Given the description of an element on the screen output the (x, y) to click on. 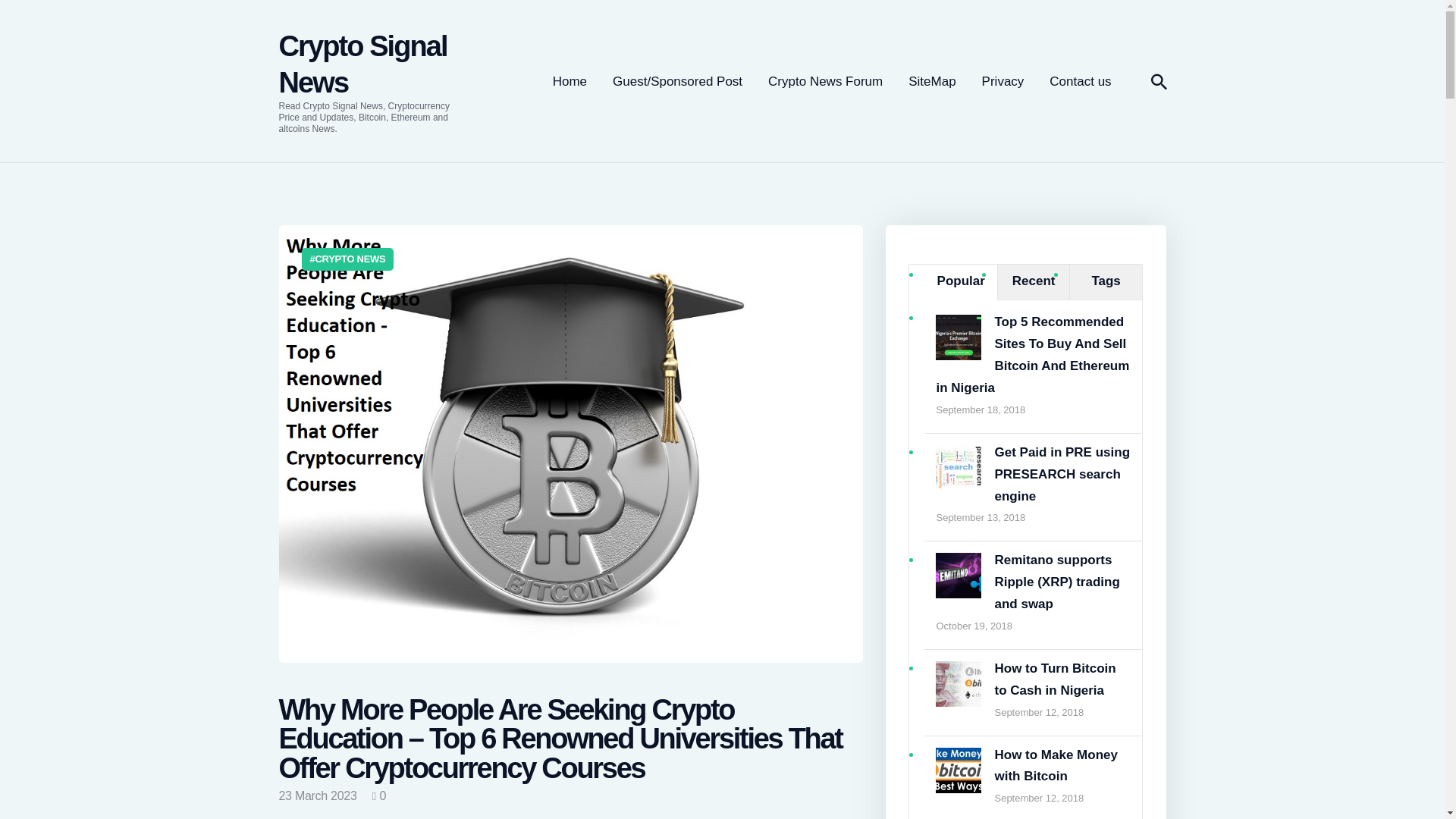
CRYPTO NEWS (347, 259)
SiteMap (931, 82)
Crypto News Forum (825, 82)
Get Paid in PRE using PRESEARCH search engine (1061, 474)
0 (378, 795)
Home (569, 82)
Contact us (1080, 82)
Get Paid in PRE using PRESEARCH search engine (958, 486)
Privacy (1002, 82)
